Given the description of an element on the screen output the (x, y) to click on. 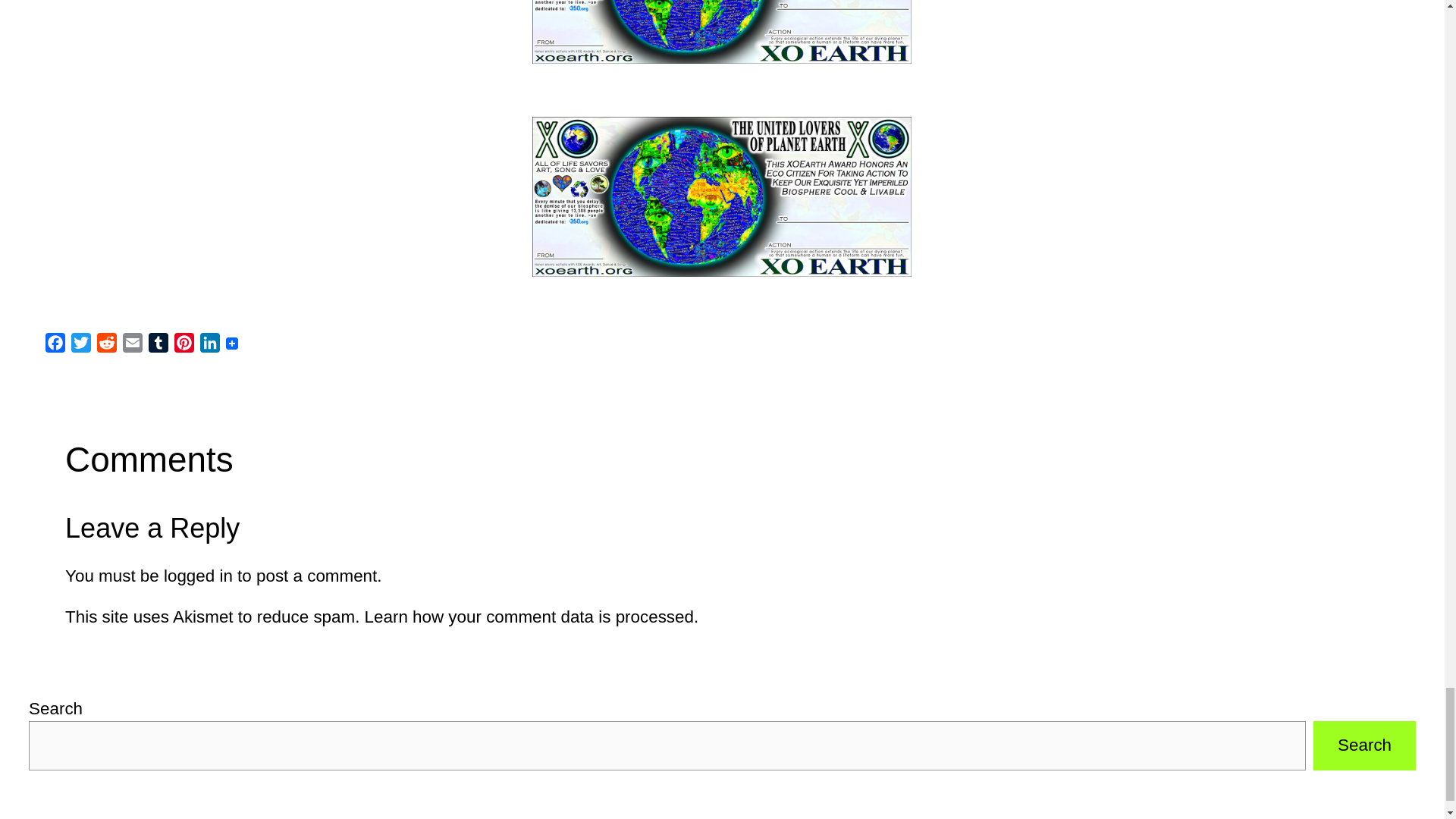
XOEarth Awards - slow (721, 31)
XOEarth Awards - slow (721, 196)
